Given the description of an element on the screen output the (x, y) to click on. 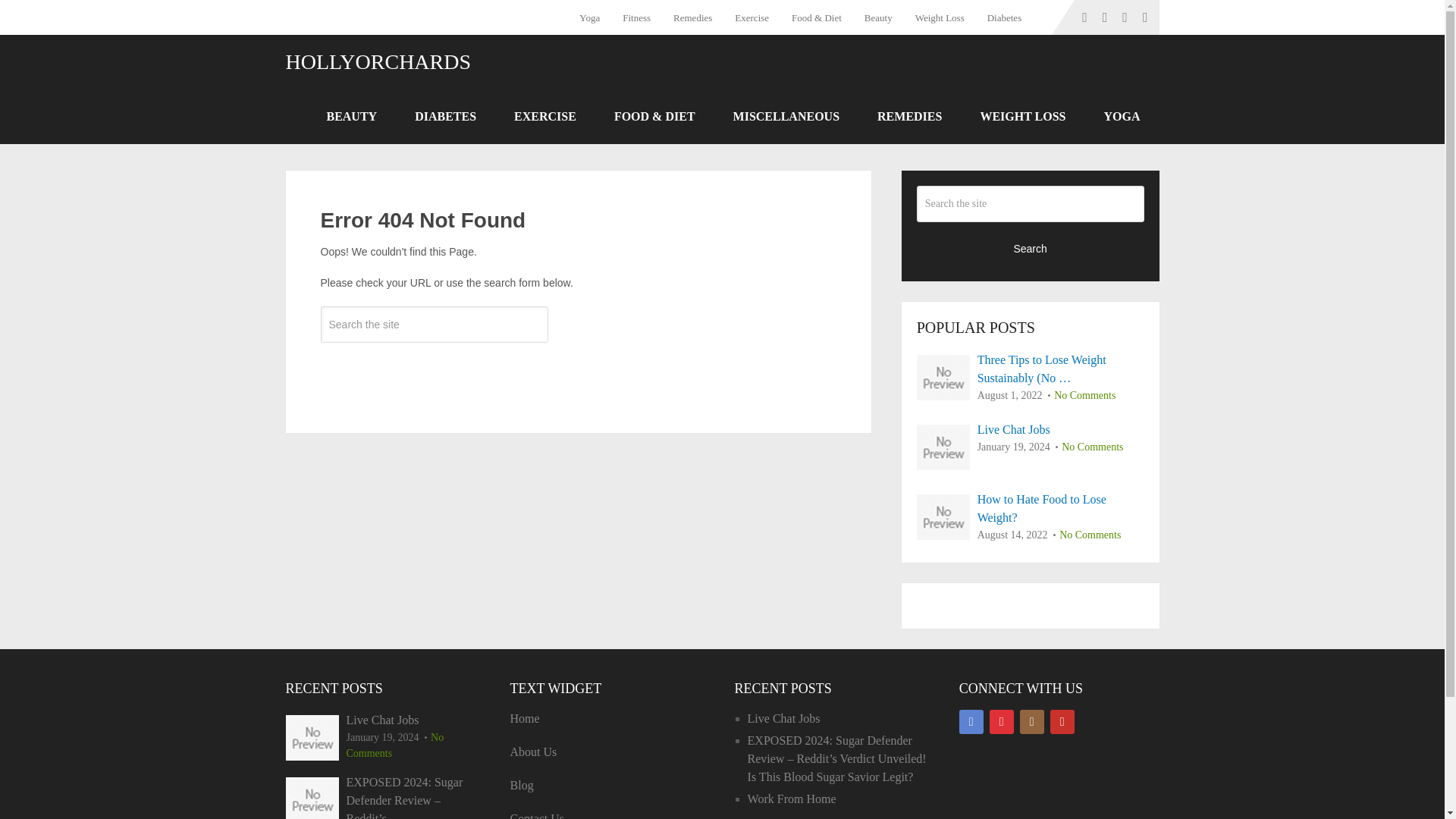
Search (433, 368)
BEAUTY (351, 116)
Beauty (878, 17)
WEIGHT LOSS (1022, 116)
YOGA (1121, 116)
Exercise (751, 17)
Instagram (1031, 721)
REMEDIES (909, 116)
EXERCISE (545, 116)
MISCELLANEOUS (786, 116)
Diabetes (1003, 17)
How to Hate Food to Lose Weight? (1030, 508)
Fitness (636, 17)
Remedies (692, 17)
